Given the description of an element on the screen output the (x, y) to click on. 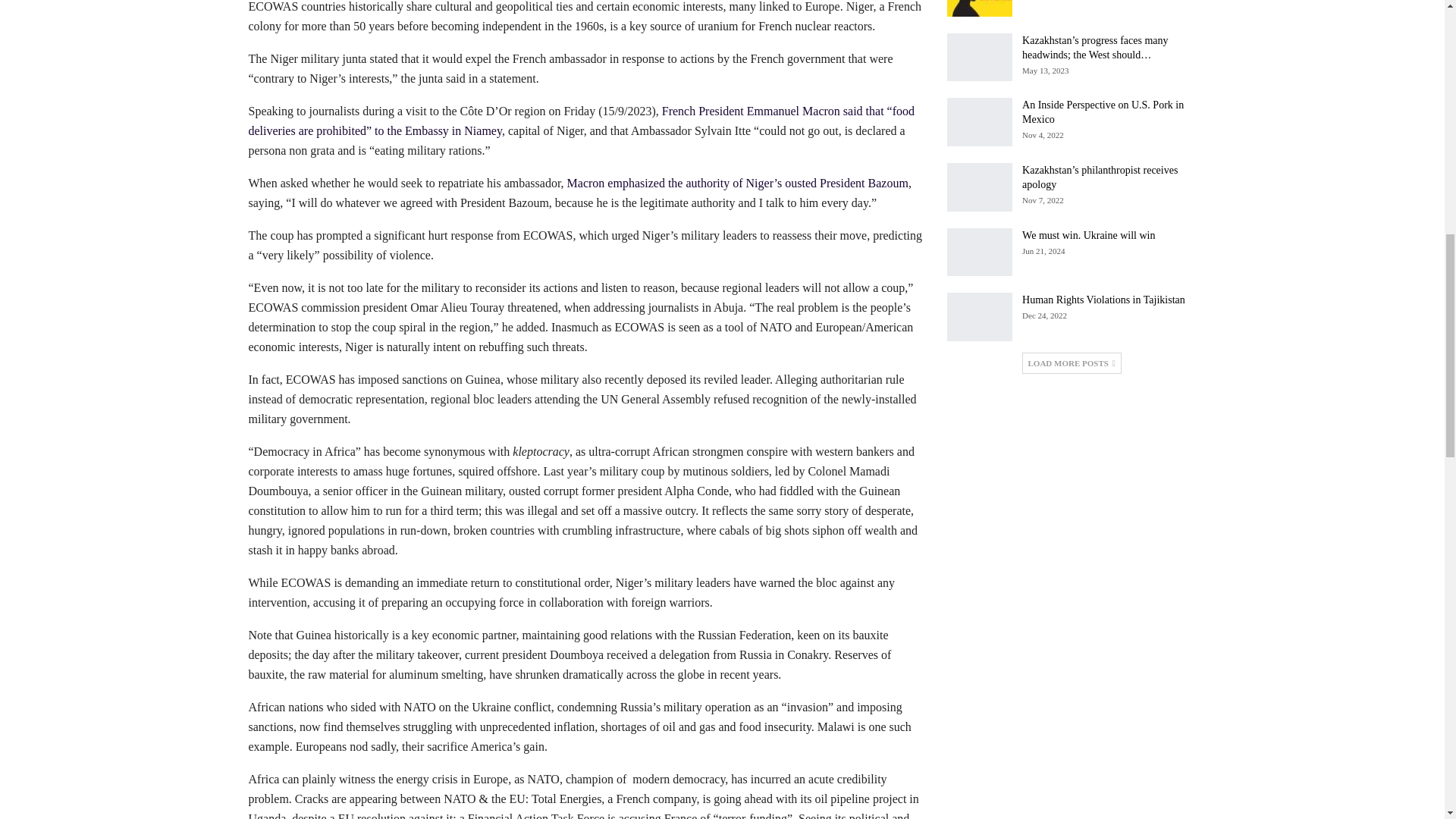
Tajikistan: Who Killed the Pamiris? (979, 8)
An Inside Perspective on U.S. Pork in Mexico (979, 121)
